Given the description of an element on the screen output the (x, y) to click on. 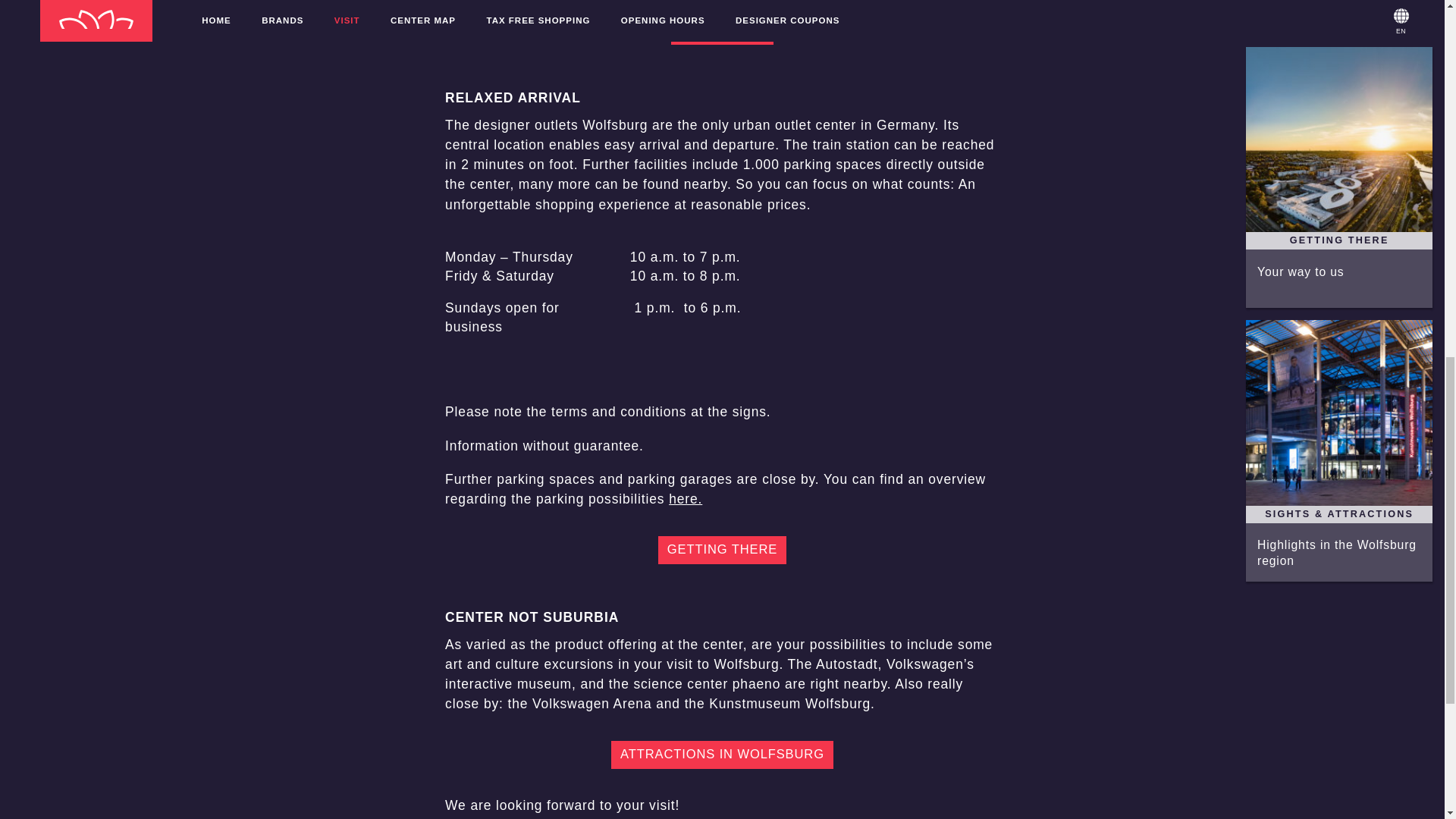
ATTRACTIONS IN WOLFSBURG (721, 754)
ALL BRANDS (722, 30)
here. (684, 498)
GETTING THERE (722, 549)
